Given the description of an element on the screen output the (x, y) to click on. 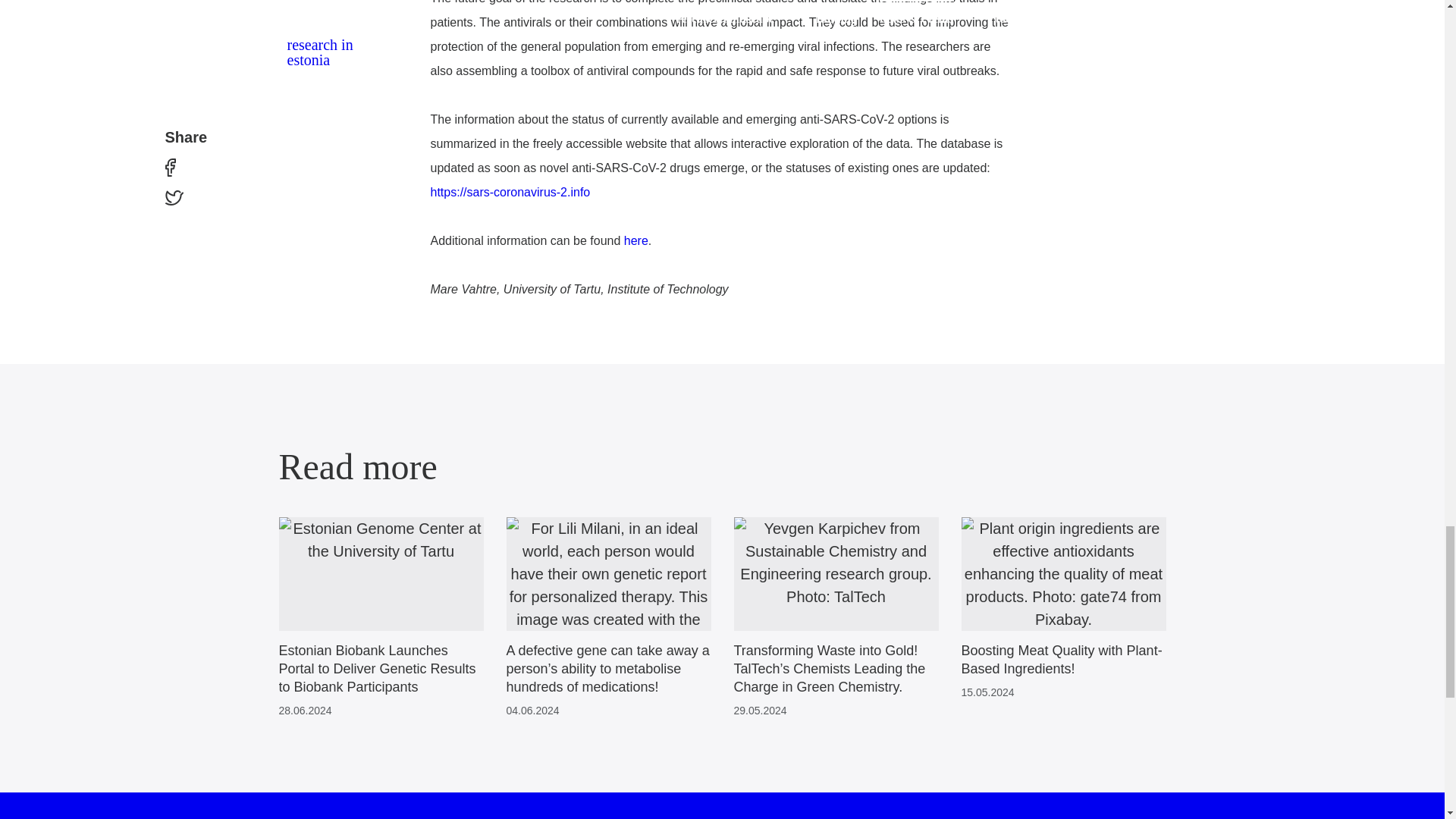
here (635, 240)
